Given the description of an element on the screen output the (x, y) to click on. 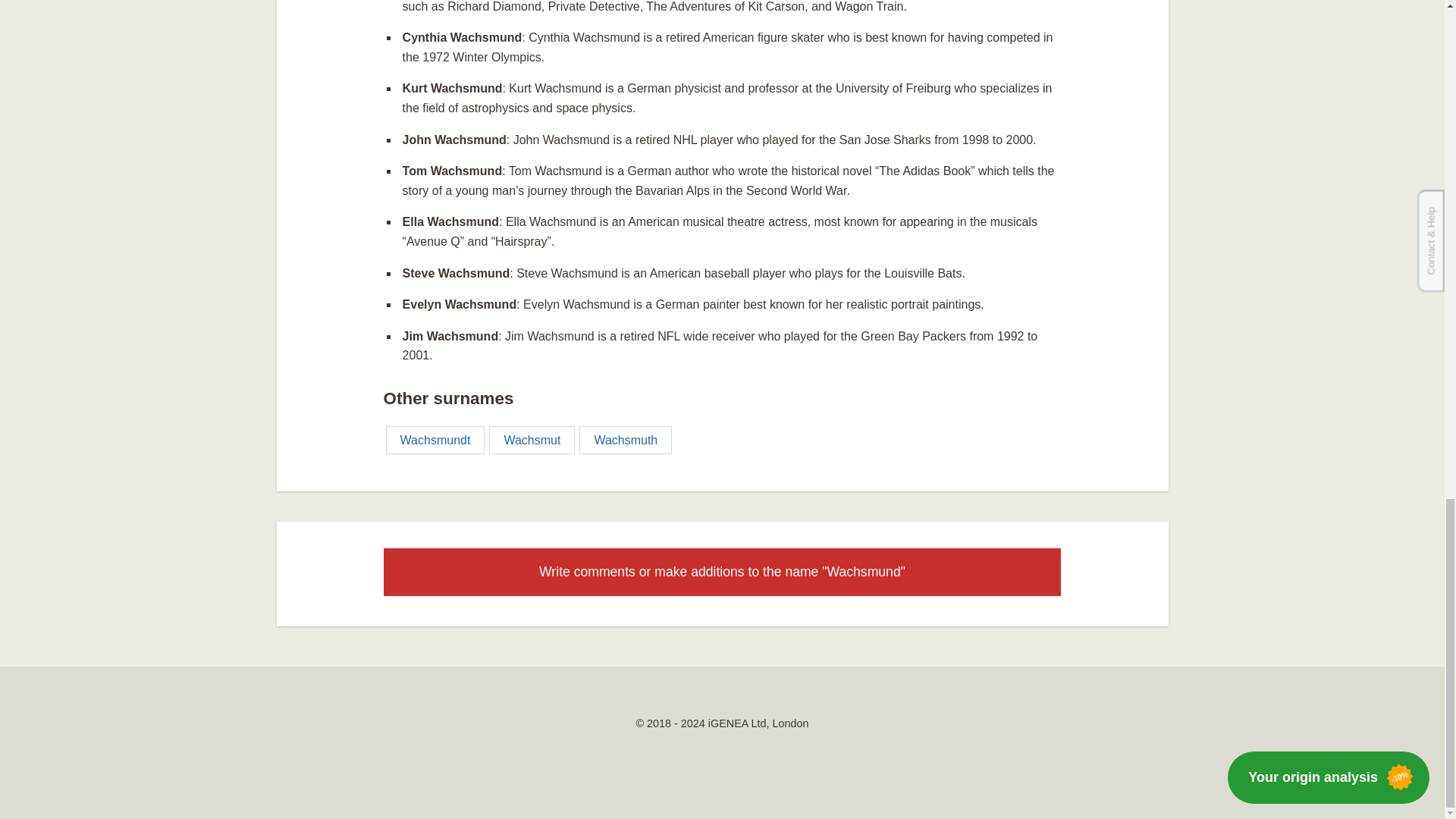
Origin and meaning surname Wachsmut (532, 440)
Write comments or make additions to the name "Wachsmund" (722, 571)
Wachsmundt (434, 440)
Wachsmuth (625, 440)
Wachsmut (532, 440)
Origin and meaning surname Wachsmundt (434, 440)
Origin and meaning surname Wachsmuth (625, 440)
